Given the description of an element on the screen output the (x, y) to click on. 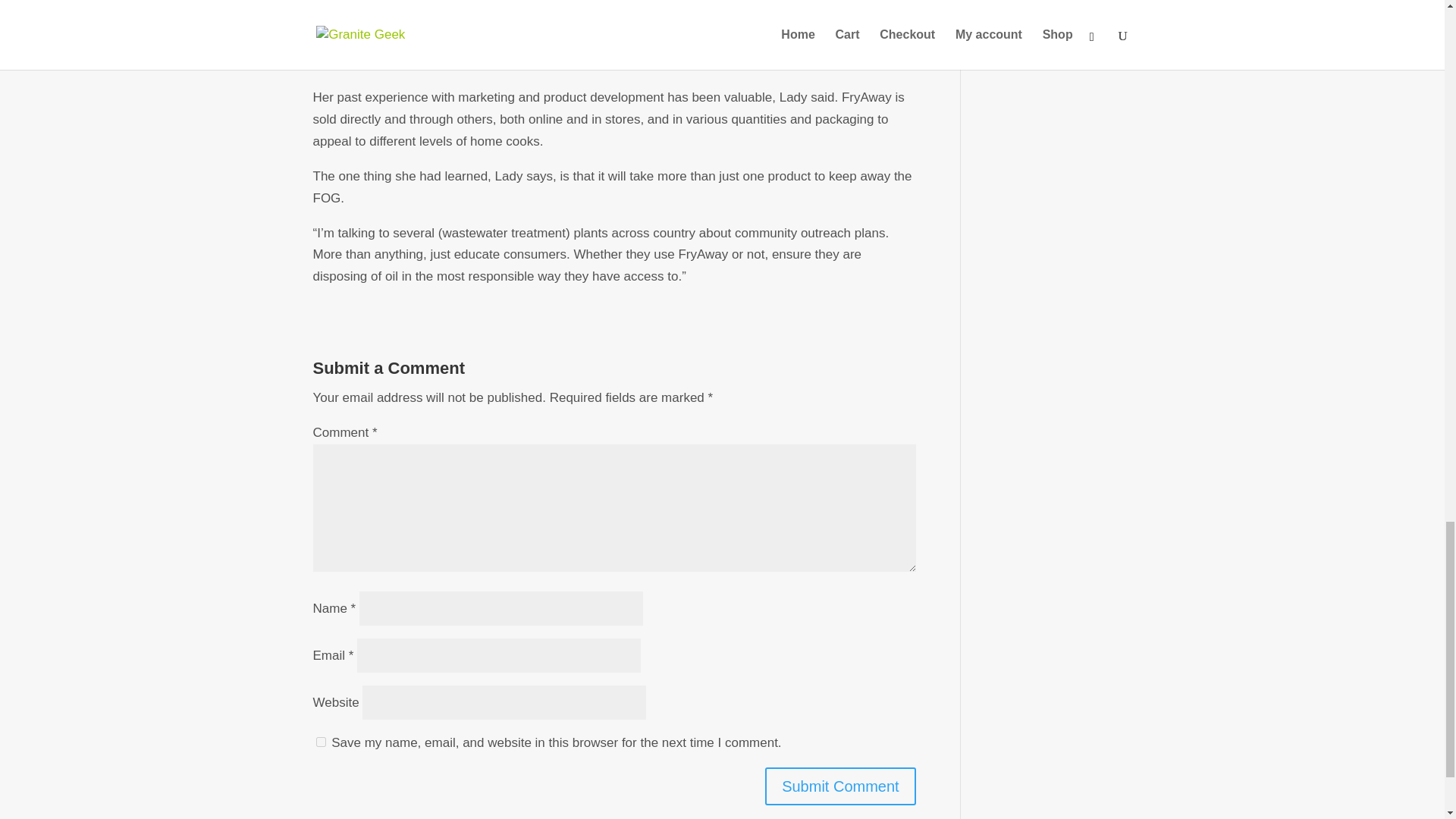
yes (319, 741)
Submit Comment (840, 786)
Submit Comment (840, 786)
